Given the description of an element on the screen output the (x, y) to click on. 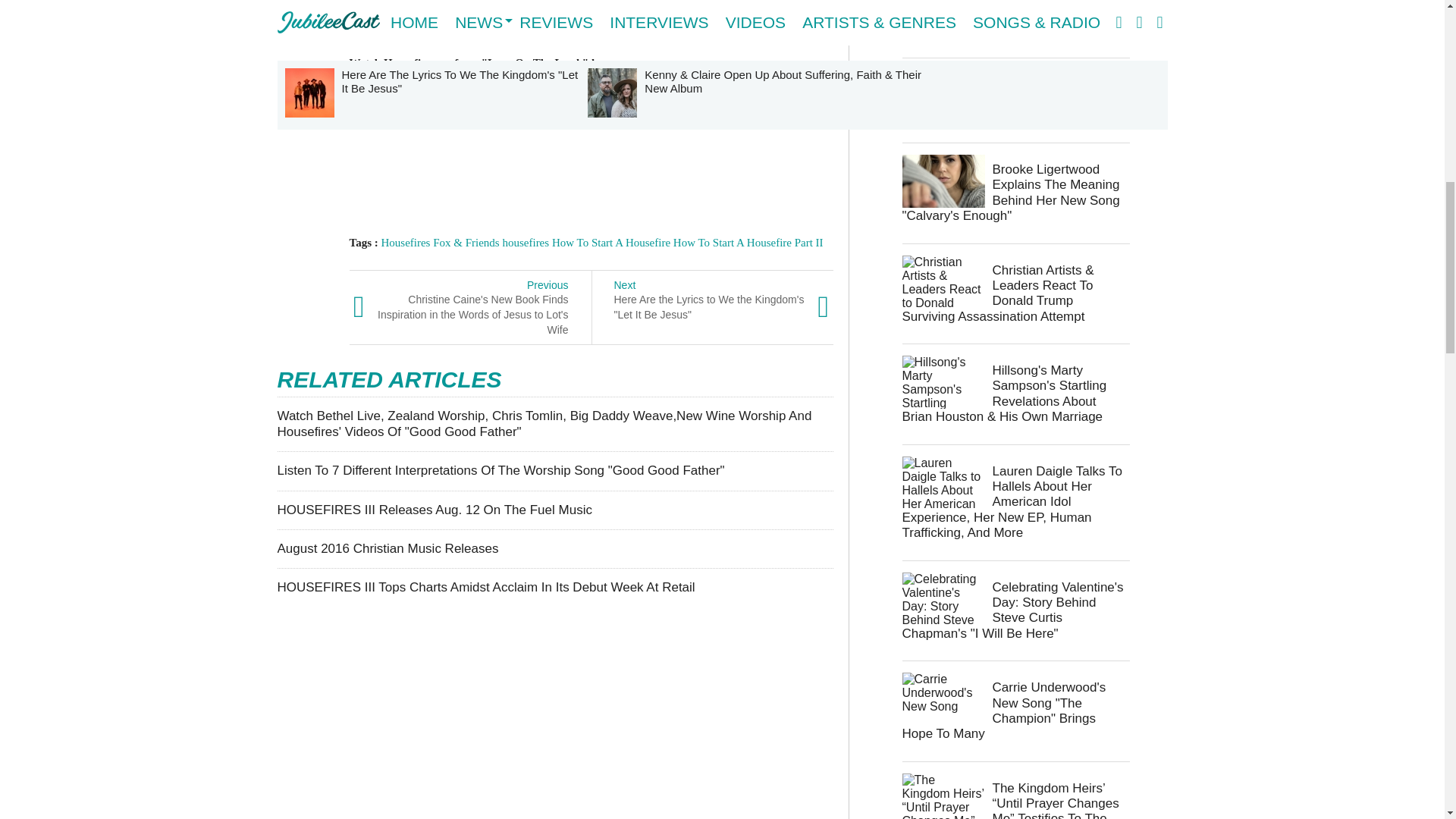
housefires.org (403, 26)
Opens in a new window (403, 26)
Opens in a new window (432, 98)
